Given the description of an element on the screen output the (x, y) to click on. 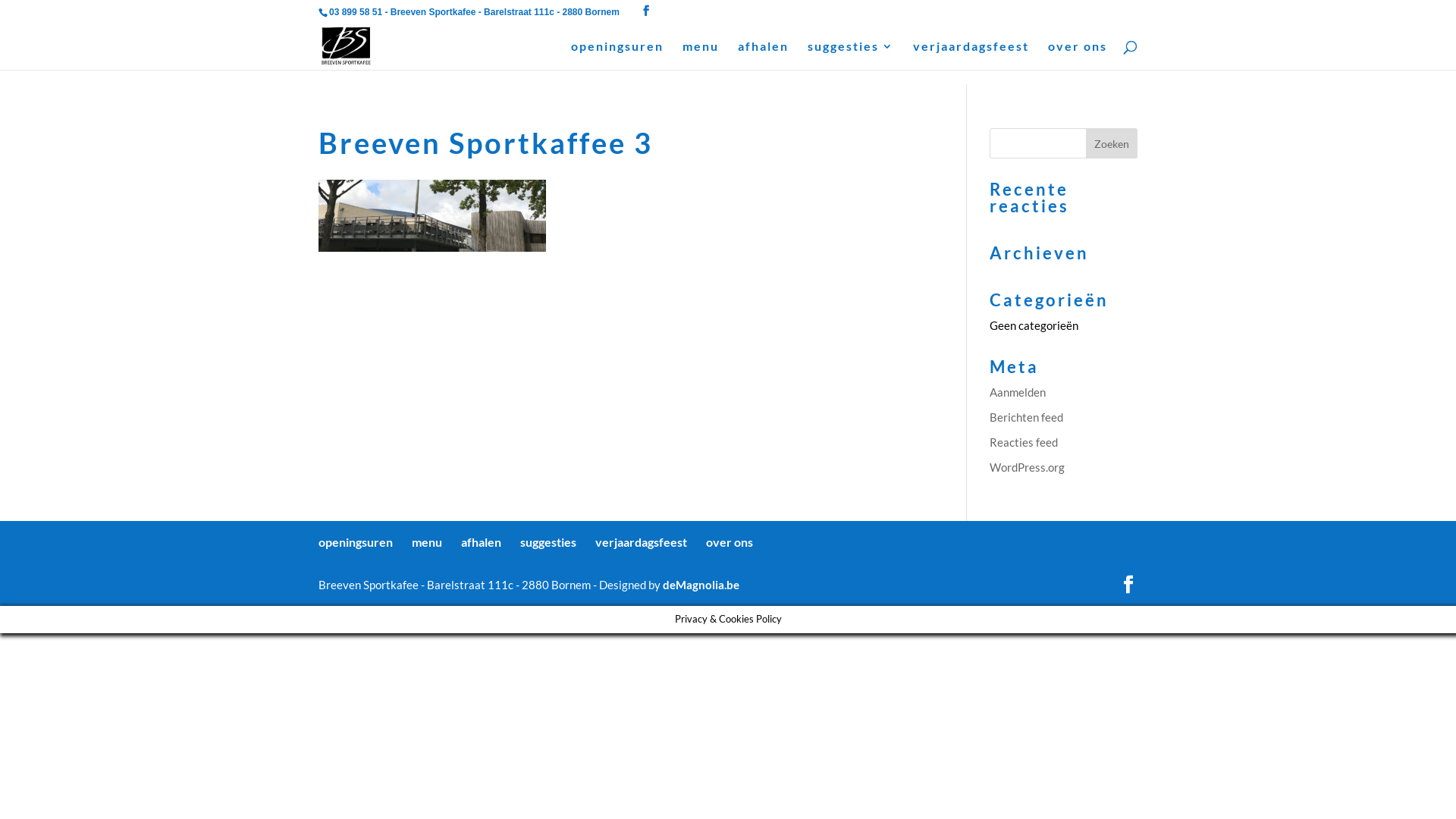
Aanmelden Element type: text (1017, 391)
openingsuren Element type: text (617, 54)
verjaardagsfeest Element type: text (971, 54)
suggesties Element type: text (850, 54)
suggesties Element type: text (548, 541)
menu Element type: text (700, 54)
WordPress.org Element type: text (1026, 466)
deMagnolia.be Element type: text (700, 584)
Berichten feed Element type: text (1026, 416)
menu Element type: text (426, 541)
verjaardagsfeest Element type: text (641, 541)
Zoeken Element type: text (1111, 143)
over ons Element type: text (729, 541)
over ons Element type: text (1077, 54)
afhalen Element type: text (762, 54)
afhalen Element type: text (481, 541)
openingsuren Element type: text (355, 541)
Reacties feed Element type: text (1023, 441)
